Given the description of an element on the screen output the (x, y) to click on. 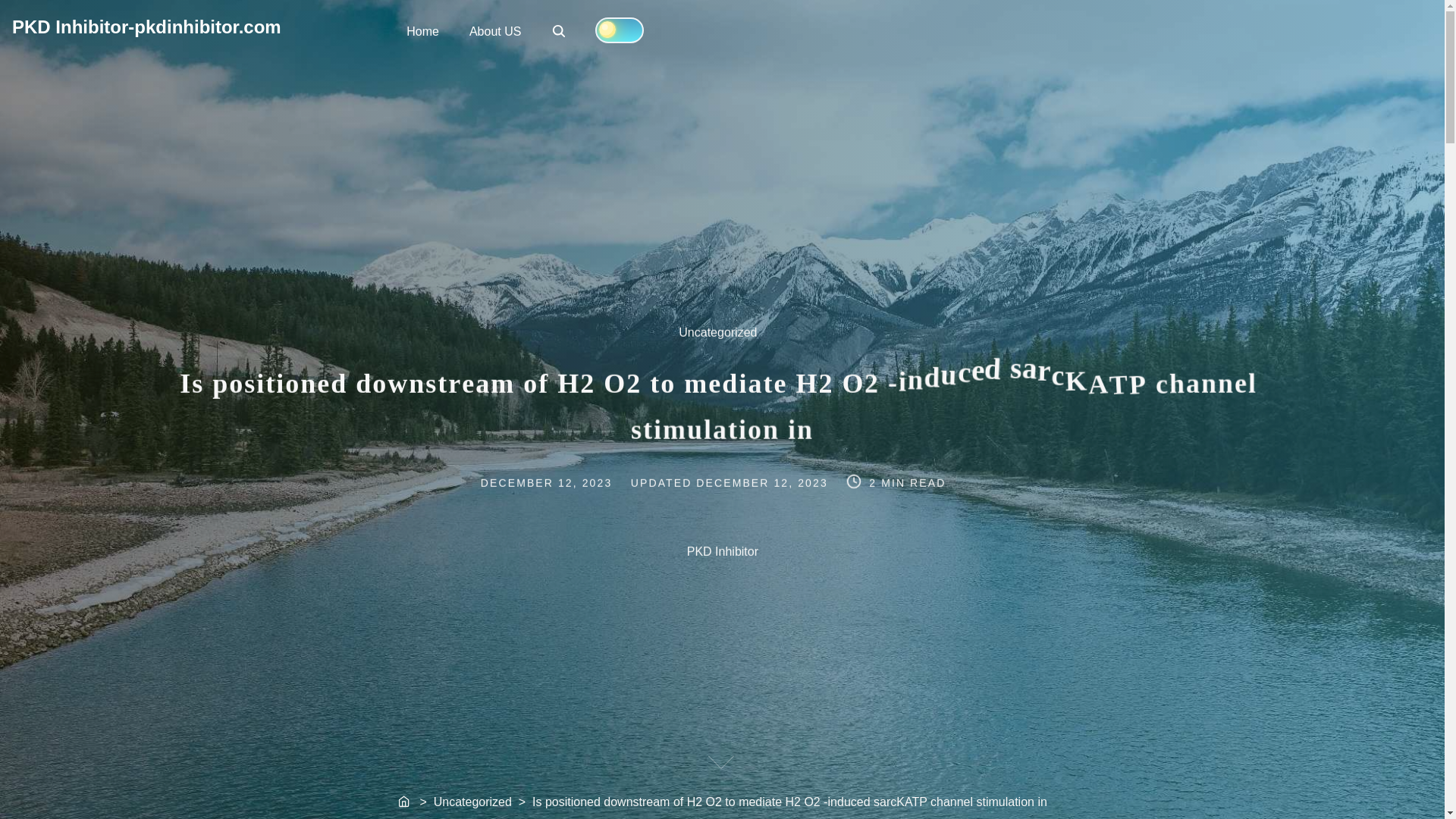
Home (422, 30)
Home (404, 802)
PKD Inhibitor-pkdinhibitor.com (559, 31)
DECEMBER 12, 2023 (146, 26)
Search (762, 480)
DECEMBER 12, 2023 (558, 30)
About US (564, 480)
Uncategorized (494, 30)
